Given the description of an element on the screen output the (x, y) to click on. 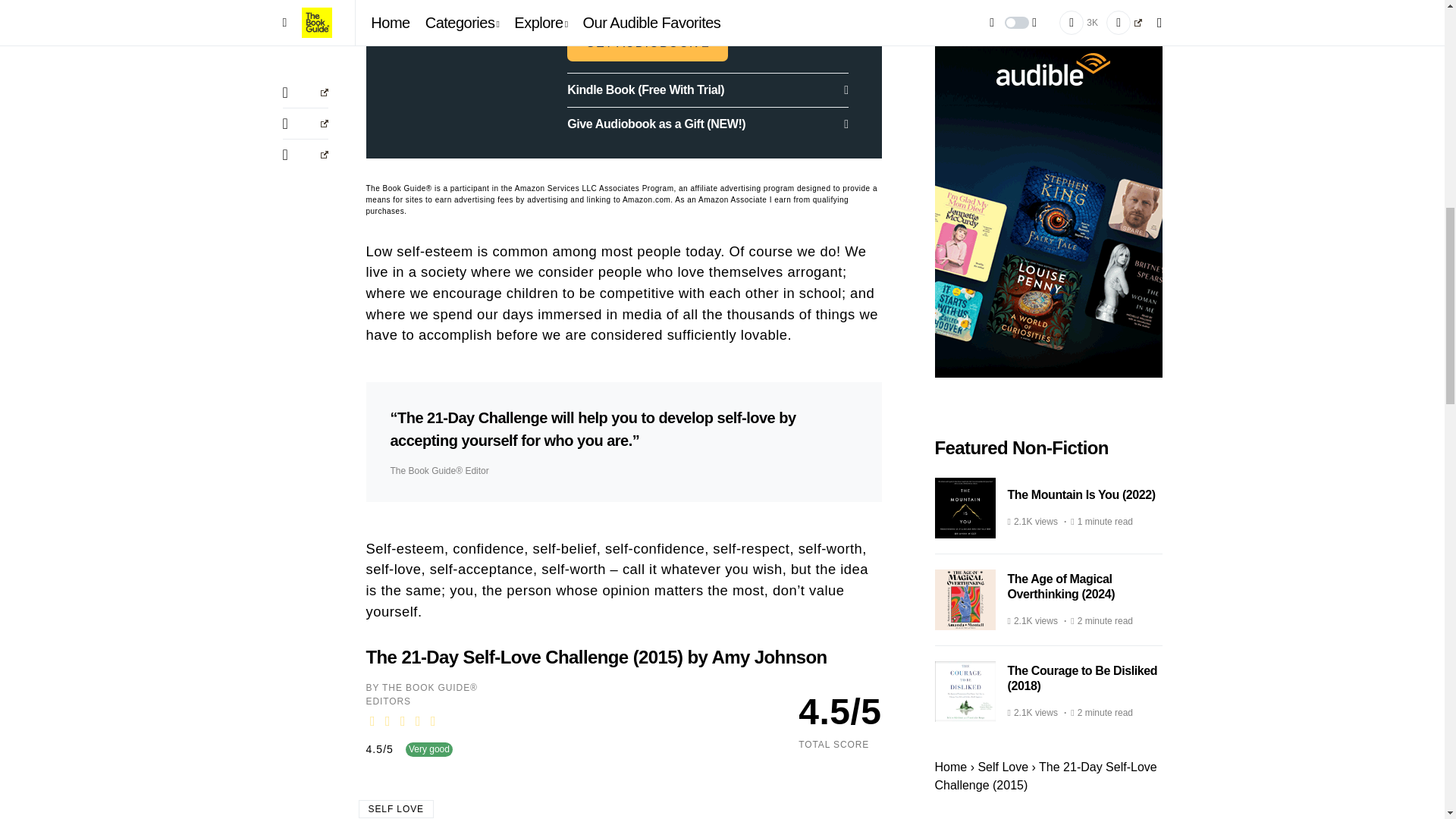
Home (950, 490)
Self Love (1001, 490)
